Given the description of an element on the screen output the (x, y) to click on. 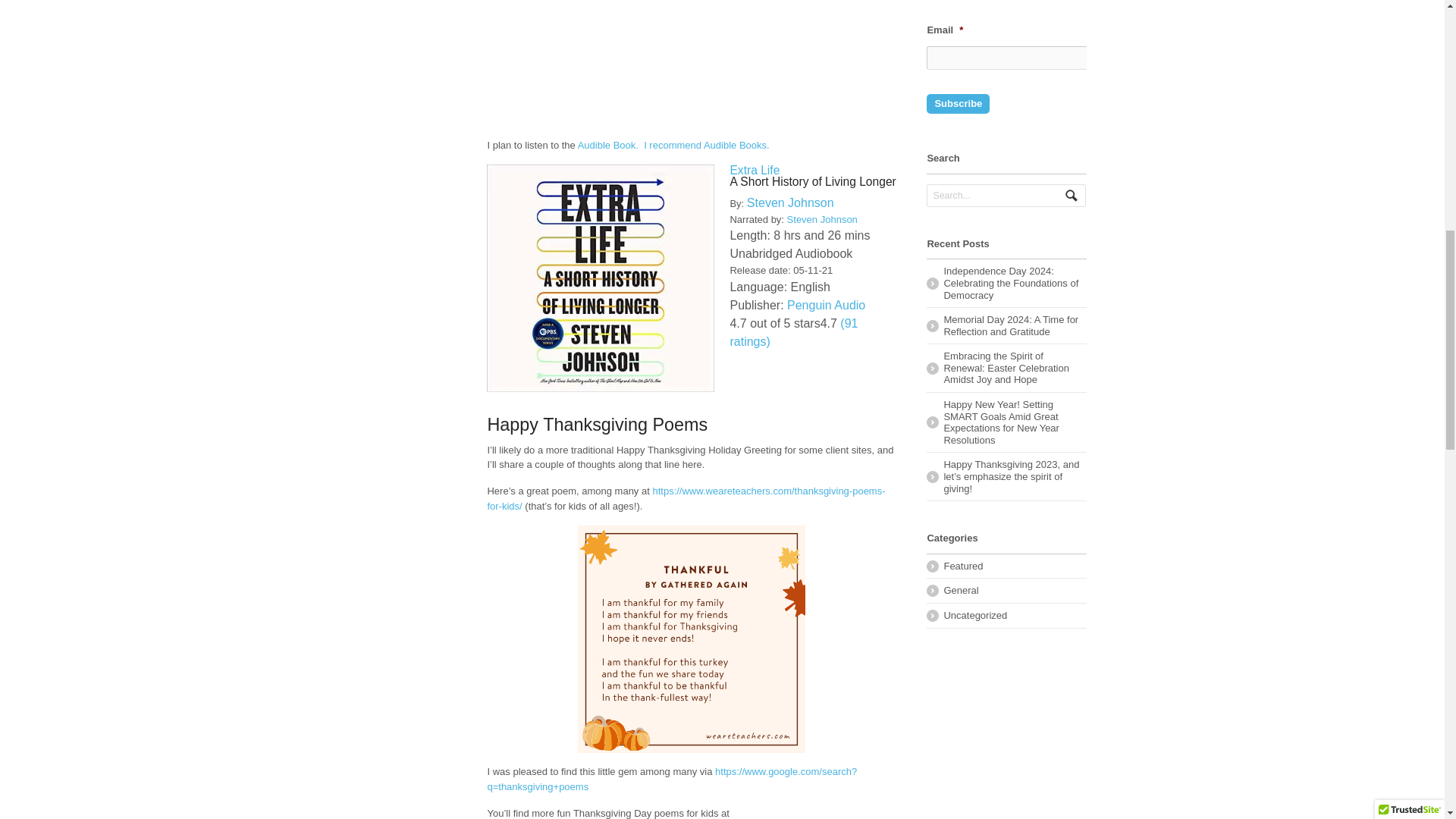
Subscribe (958, 103)
Extra Life (753, 169)
Penguin Audio (825, 305)
Steven Johnson (822, 219)
Search... (999, 195)
Steven Johnson (790, 202)
Audible Book.  I recommend Audible Books. (674, 144)
YouTube video player (691, 63)
